Given the description of an element on the screen output the (x, y) to click on. 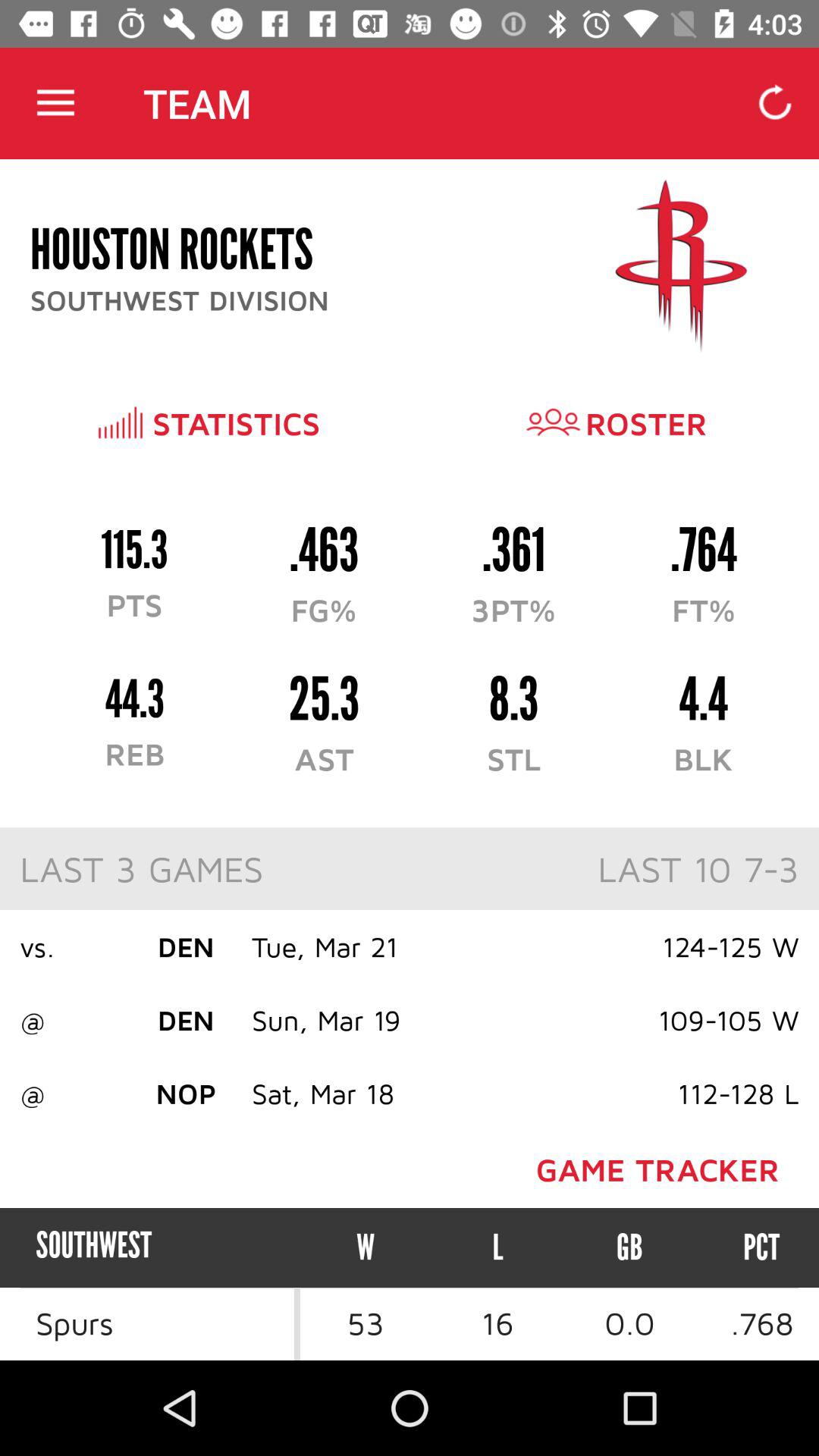
launch the icon above the houston rockets icon (55, 103)
